Given the description of an element on the screen output the (x, y) to click on. 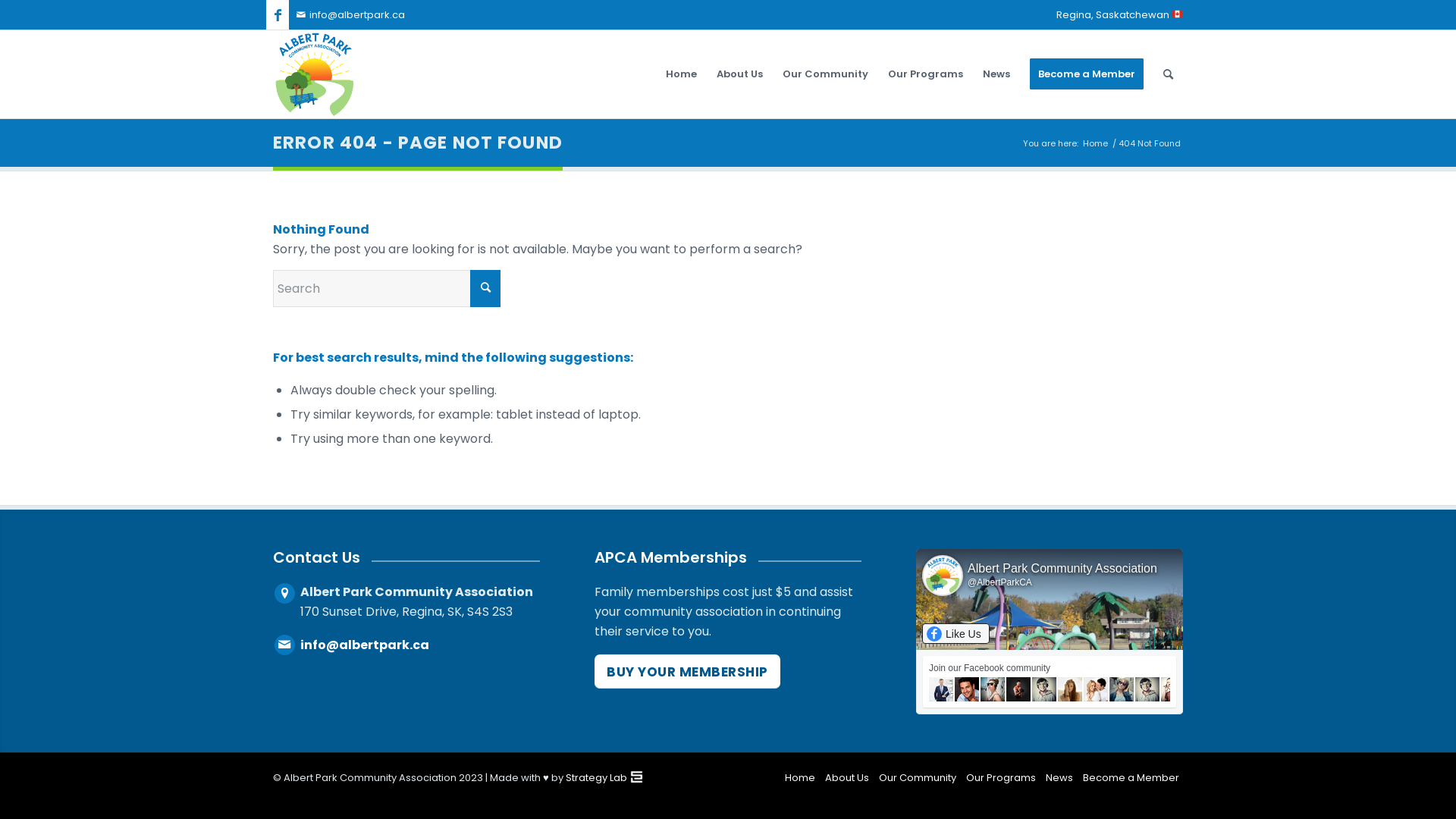
Our Community Element type: text (917, 777)
Home Element type: text (680, 74)
About Us Element type: text (846, 777)
Facebook Element type: hover (277, 15)
Our Programs Element type: text (1000, 777)
Become a Member Element type: text (1130, 777)
info@albertpark.ca Element type: text (350, 15)
Become a Member Element type: text (1086, 74)
About Us Element type: text (739, 74)
BUY YOUR MEMBERSHIP Element type: text (687, 670)
Our Community Element type: text (825, 74)
News Element type: text (1059, 777)
Strategy Lab Element type: text (596, 777)
News Element type: text (995, 74)
Albert Park Community Association Element type: text (1062, 567)
Our Programs Element type: text (925, 74)
Like Us Element type: text (955, 633)
info@albertpark.ca Element type: text (408, 644)
Home Element type: text (799, 777)
Home Element type: text (1095, 143)
